Given the description of an element on the screen output the (x, y) to click on. 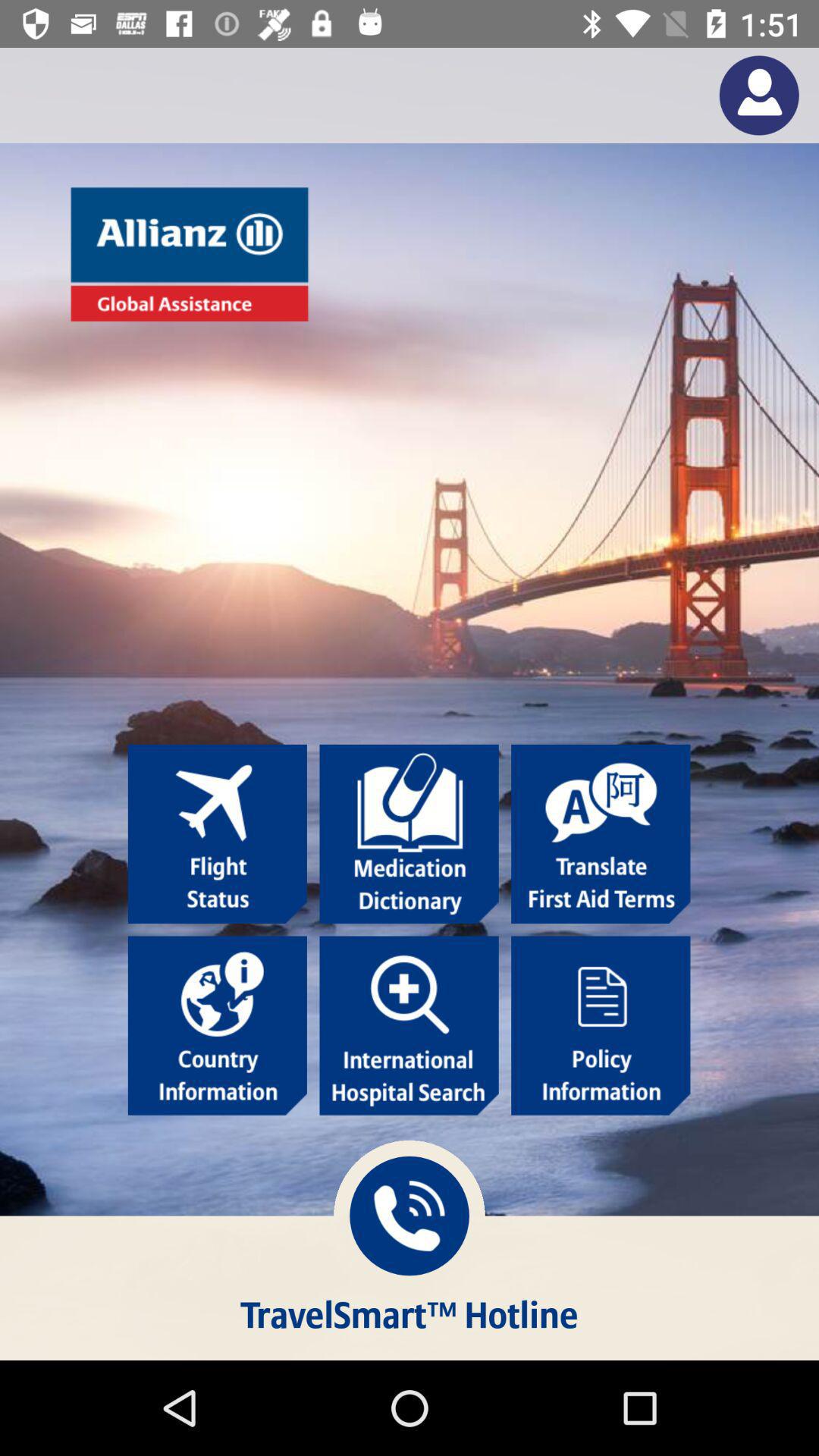
check medication dictionary (408, 833)
